Given the description of an element on the screen output the (x, y) to click on. 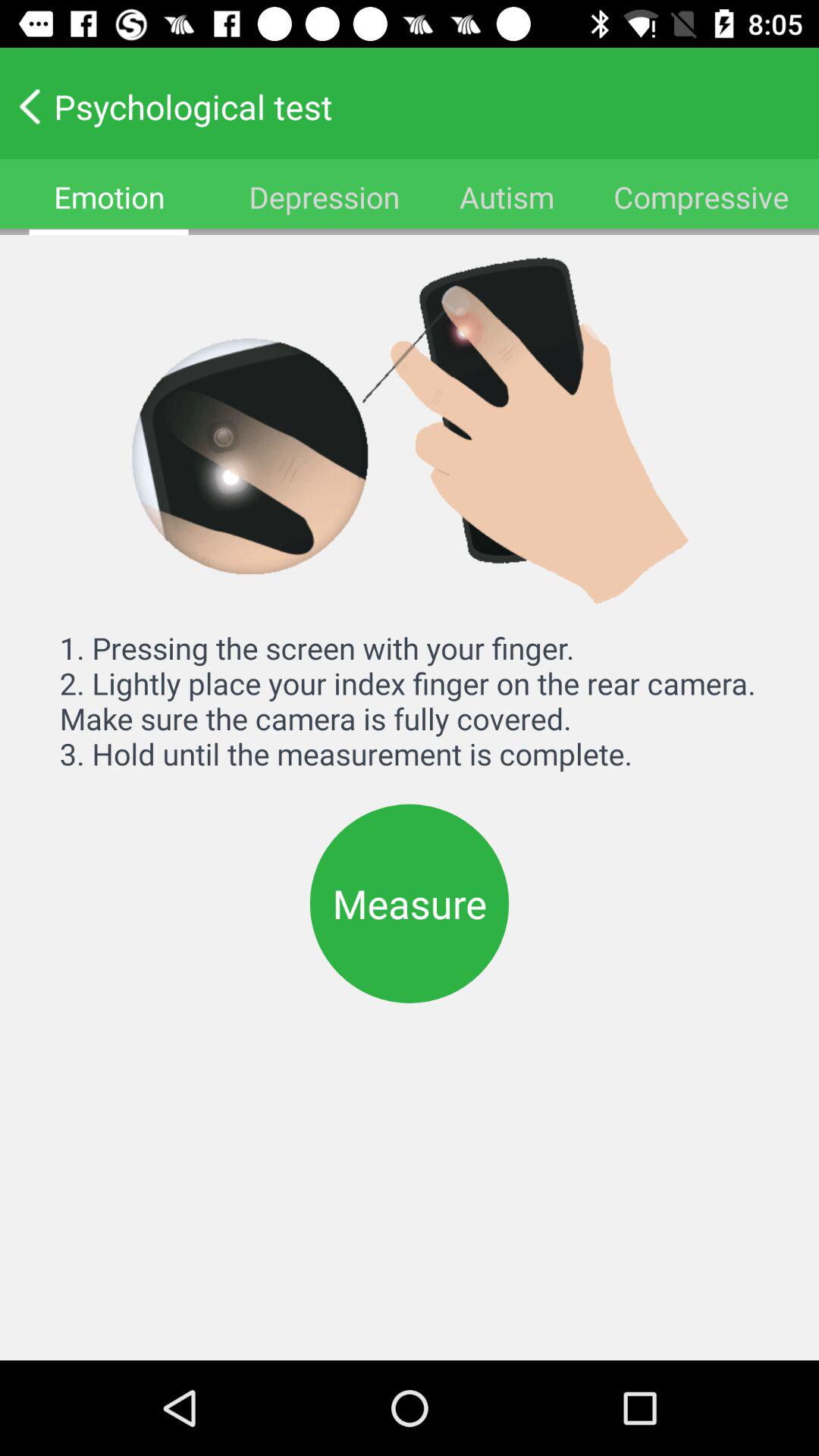
launch icon to the left of the autism (323, 196)
